Given the description of an element on the screen output the (x, y) to click on. 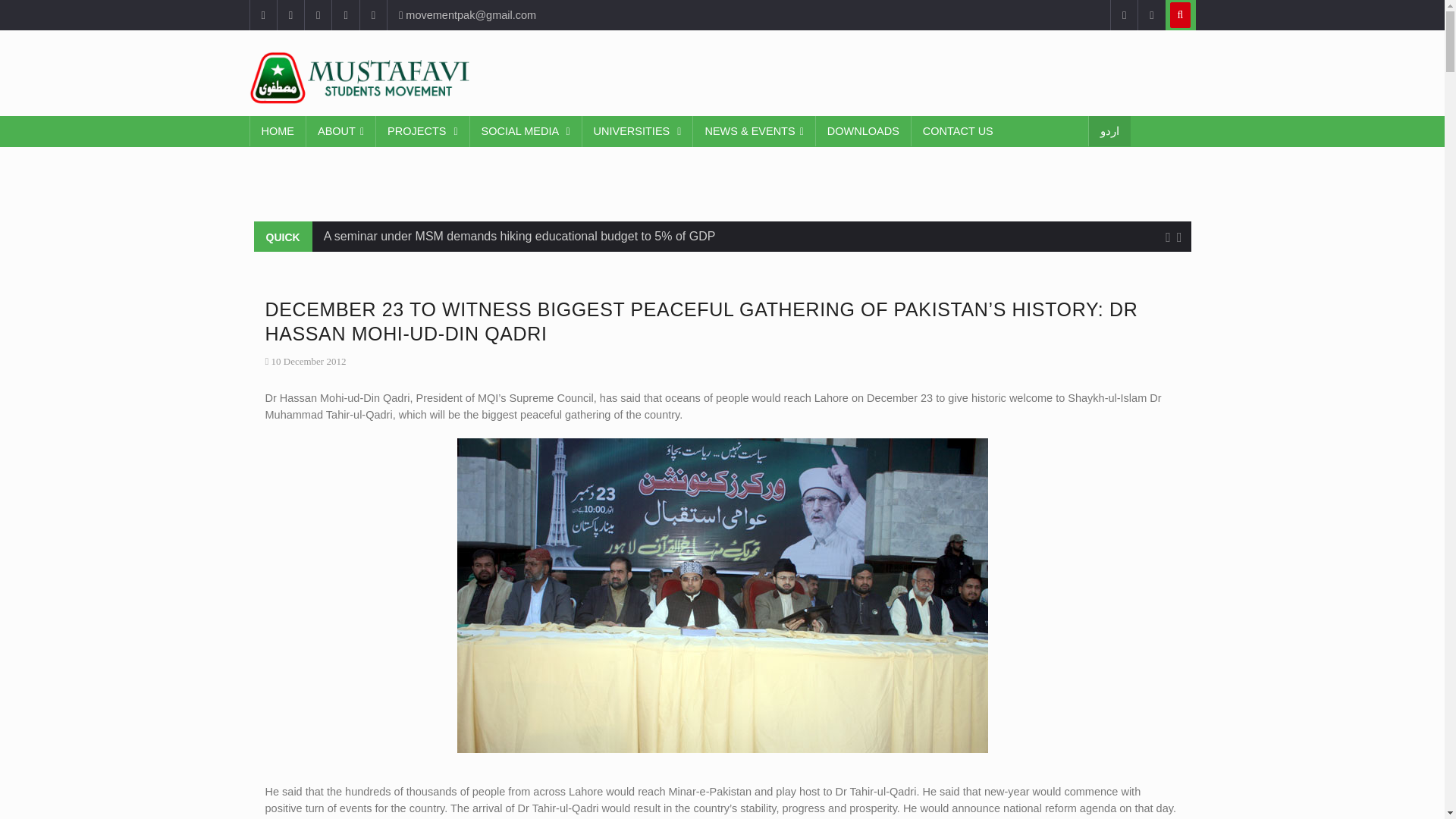
ABOUT (340, 131)
PROJECTS (421, 131)
HOME (277, 131)
Search... (1179, 15)
